Given the description of an element on the screen output the (x, y) to click on. 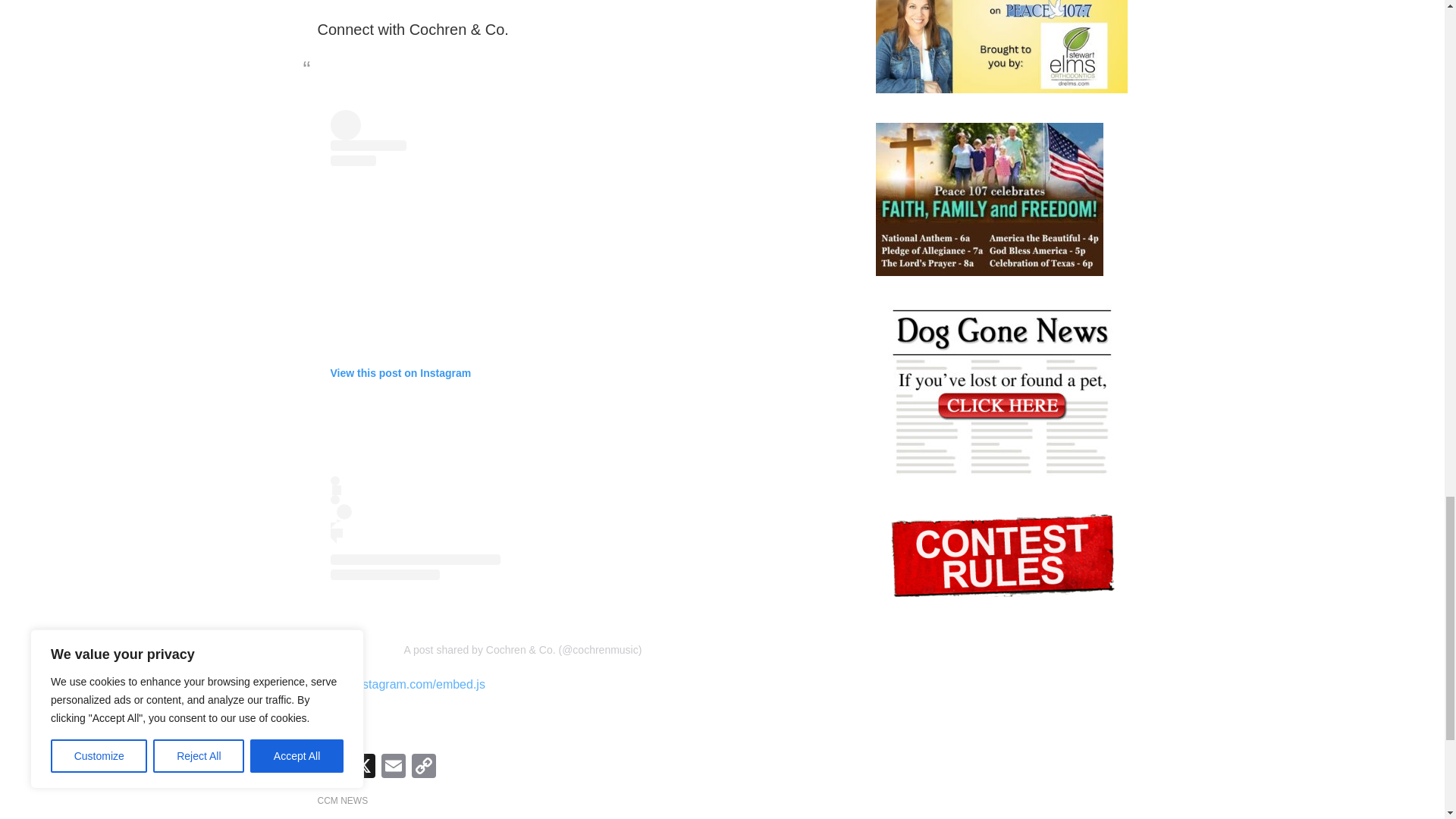
Email (392, 767)
X (362, 767)
Facebook (332, 767)
CCM NEWS (342, 800)
Source (336, 723)
Email (392, 767)
Copy Link (422, 767)
Facebook (332, 767)
Copy Link (422, 767)
X (362, 767)
